Given the description of an element on the screen output the (x, y) to click on. 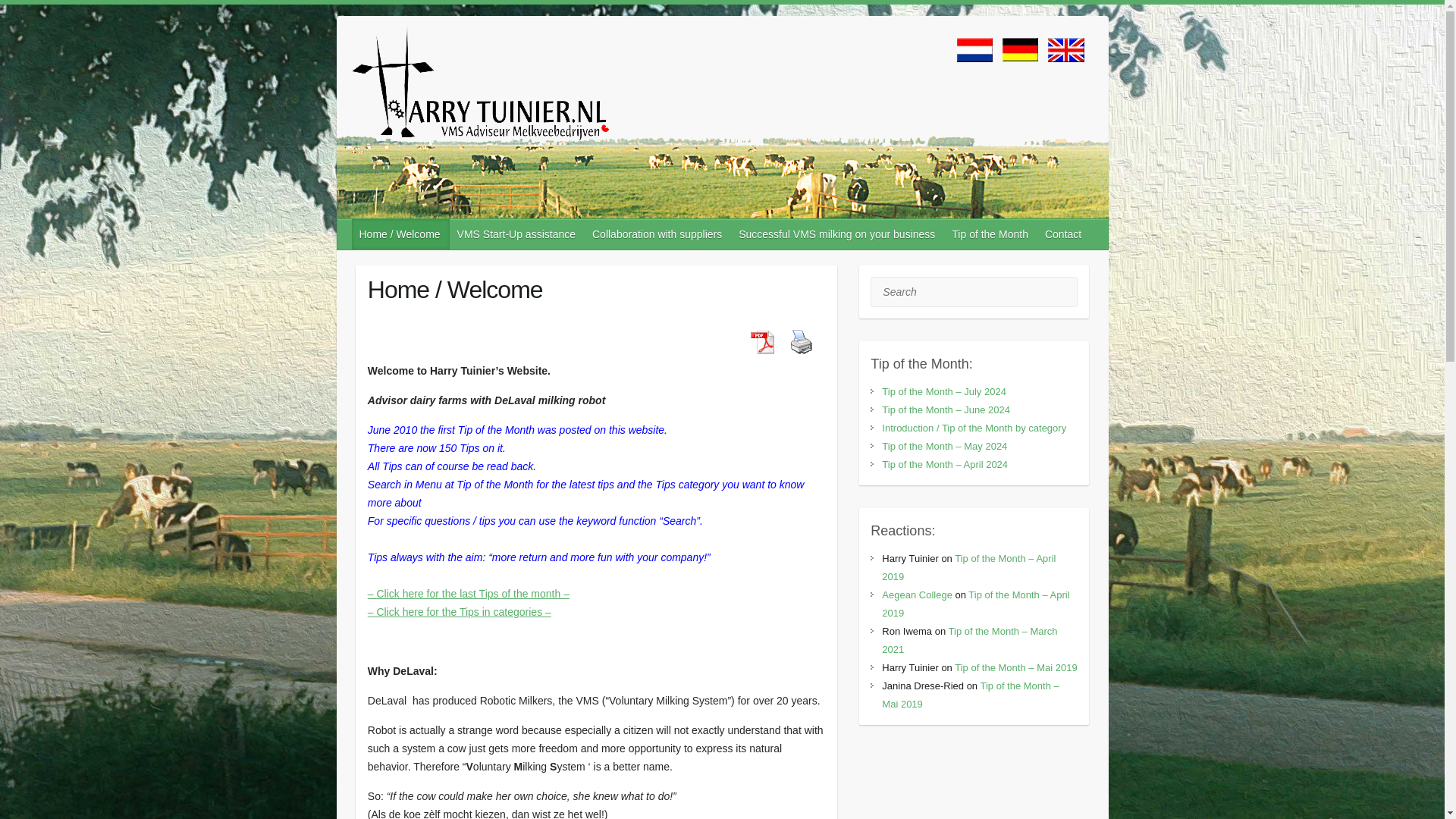
Harry Tuinier.nl (480, 87)
Collaboration with suppliers (657, 234)
Print Content (801, 341)
Successful VMS milking on your business (836, 234)
Aegean College (917, 594)
VMS Start-Up assistance (517, 234)
Contact (1063, 234)
View PDF (761, 341)
Tip of the Month (989, 234)
